Given the description of an element on the screen output the (x, y) to click on. 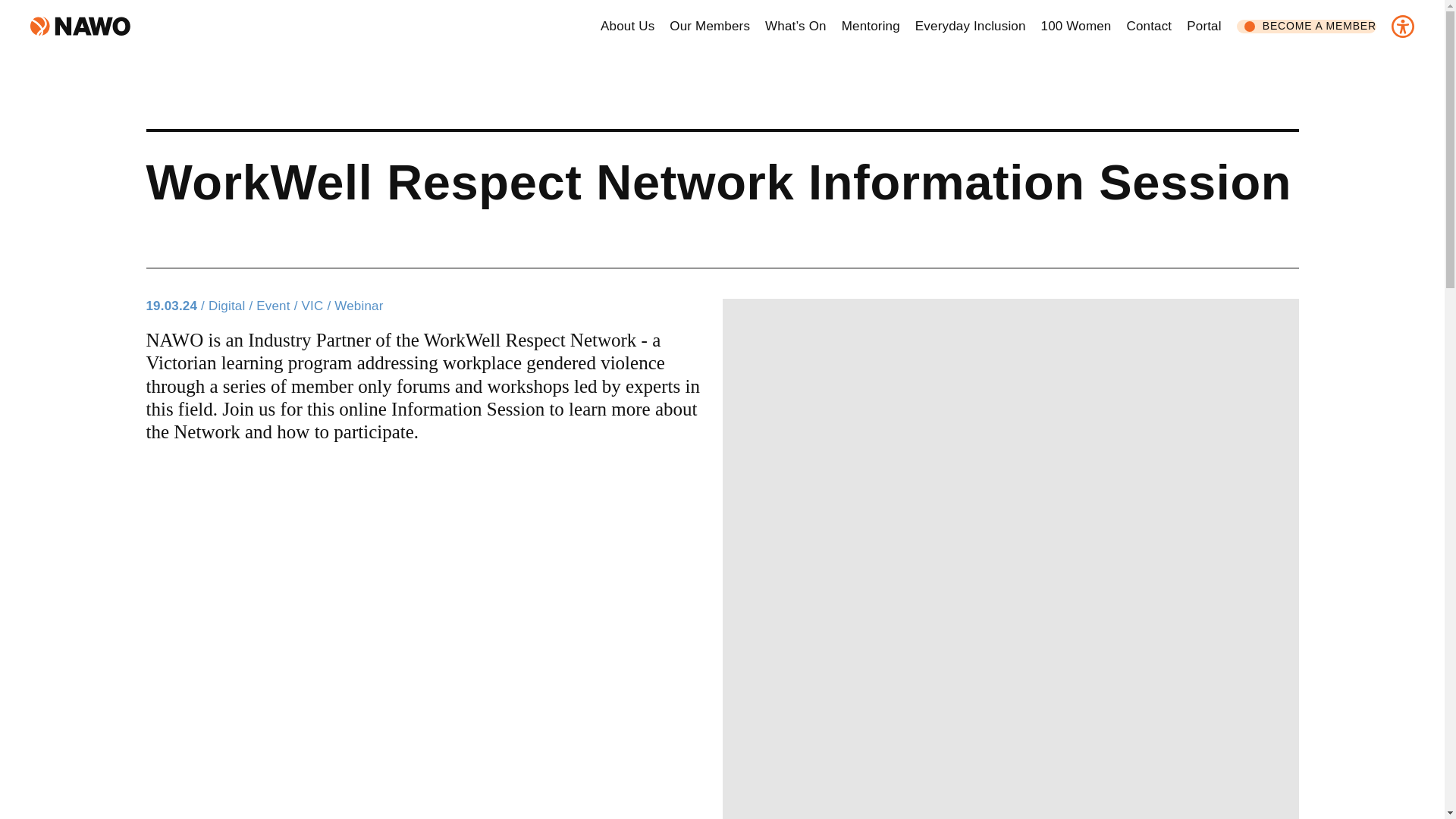
Webinar (358, 305)
100 Women (1076, 26)
Portal (1203, 26)
Everyday Inclusion (970, 26)
Digital (232, 305)
BECOME A MEMBER (1305, 26)
Mentoring (870, 26)
VIC (317, 305)
About Us (626, 26)
Contact (1148, 26)
Event (278, 305)
Our Members (709, 26)
